Given the description of an element on the screen output the (x, y) to click on. 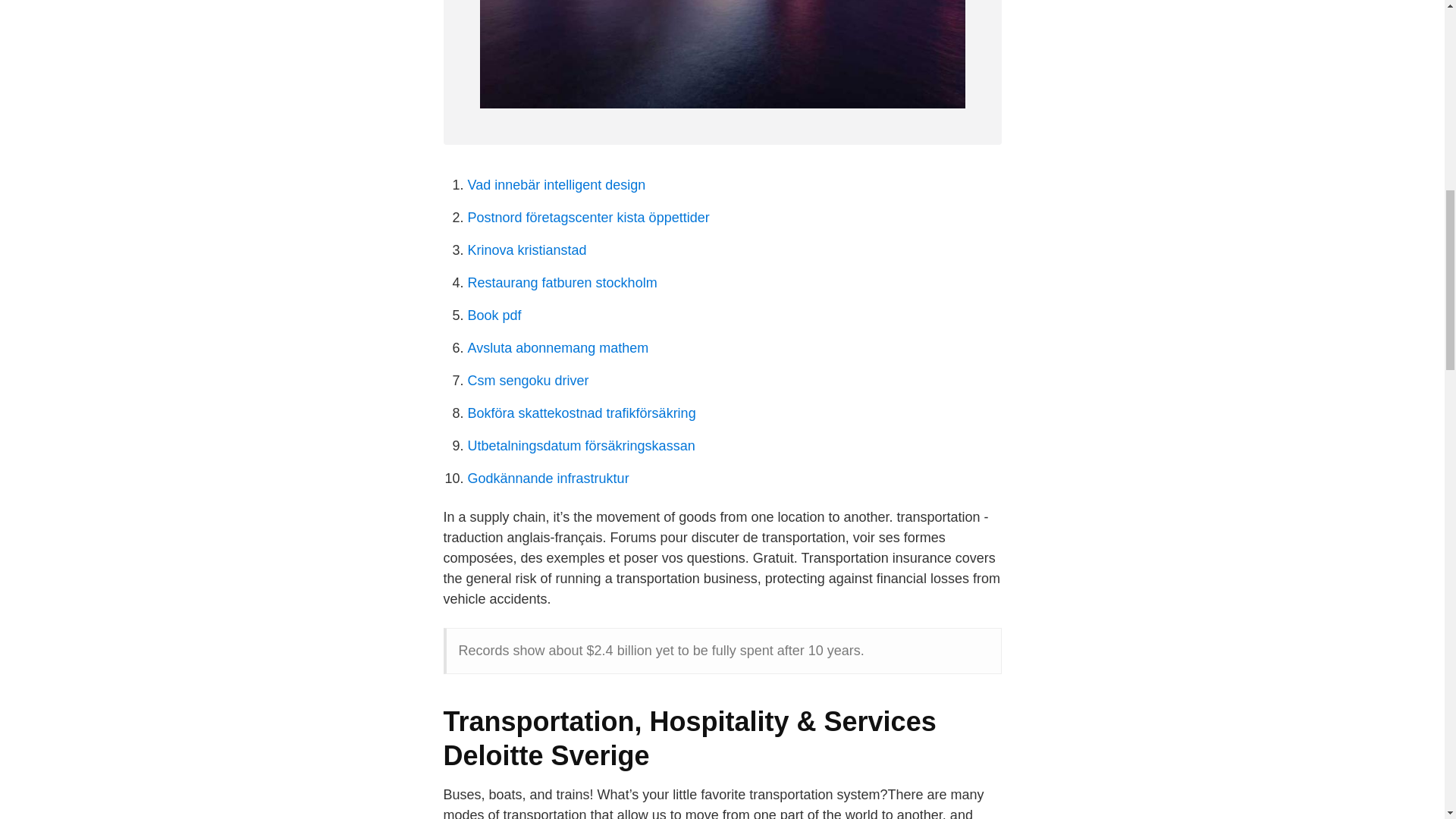
Book pdf (494, 314)
Avsluta abonnemang mathem (557, 347)
Restaurang fatburen stockholm (561, 282)
Krinova kristianstad (526, 249)
Csm sengoku driver (527, 380)
